Given the description of an element on the screen output the (x, y) to click on. 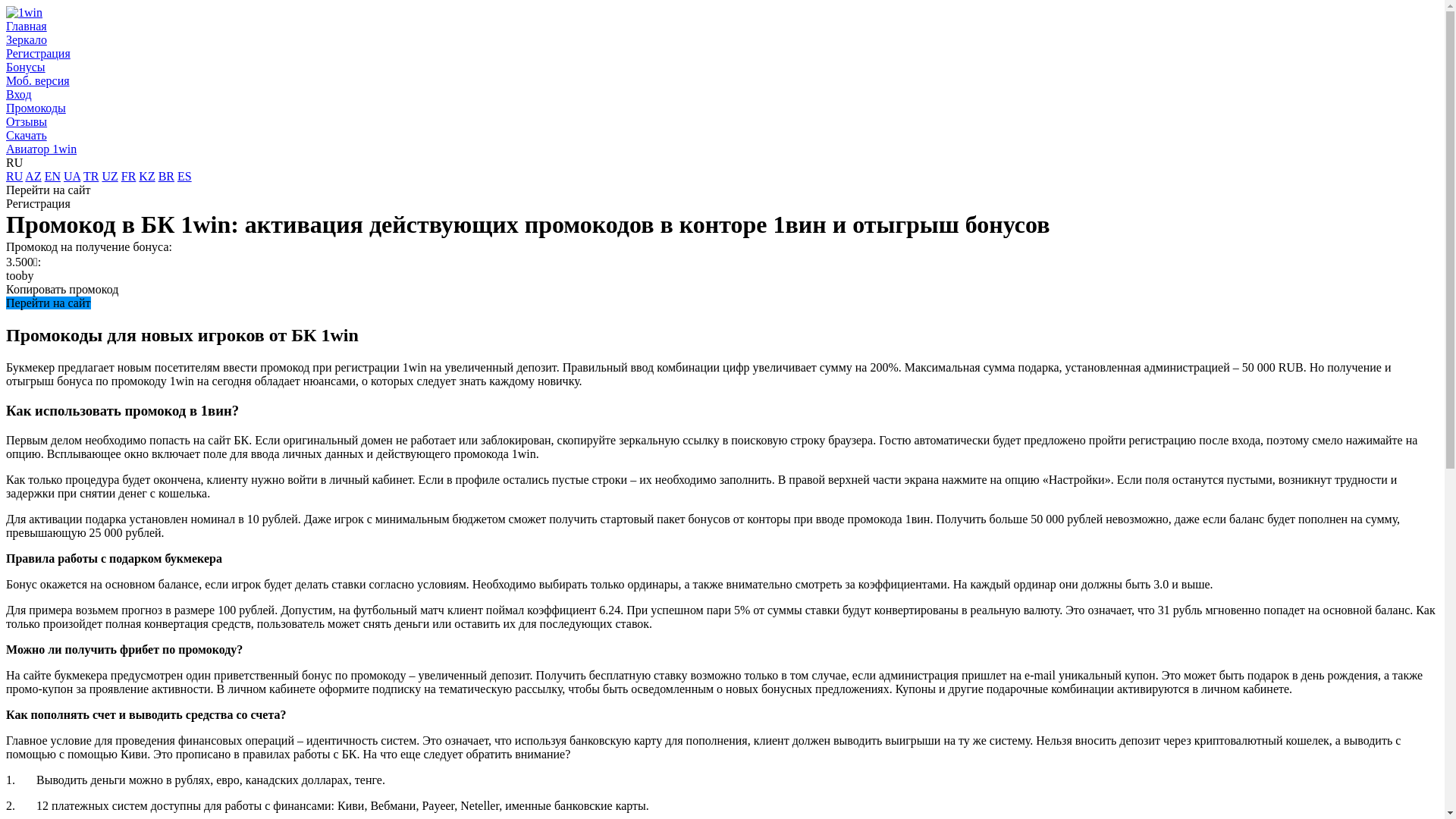
KZ Element type: text (146, 175)
TR Element type: text (90, 175)
FR Element type: text (128, 175)
UA Element type: text (71, 175)
BR Element type: text (166, 175)
EN Element type: text (52, 175)
UZ Element type: text (109, 175)
ES Element type: text (184, 175)
RU Element type: text (14, 175)
AZ Element type: text (32, 175)
